Given the description of an element on the screen output the (x, y) to click on. 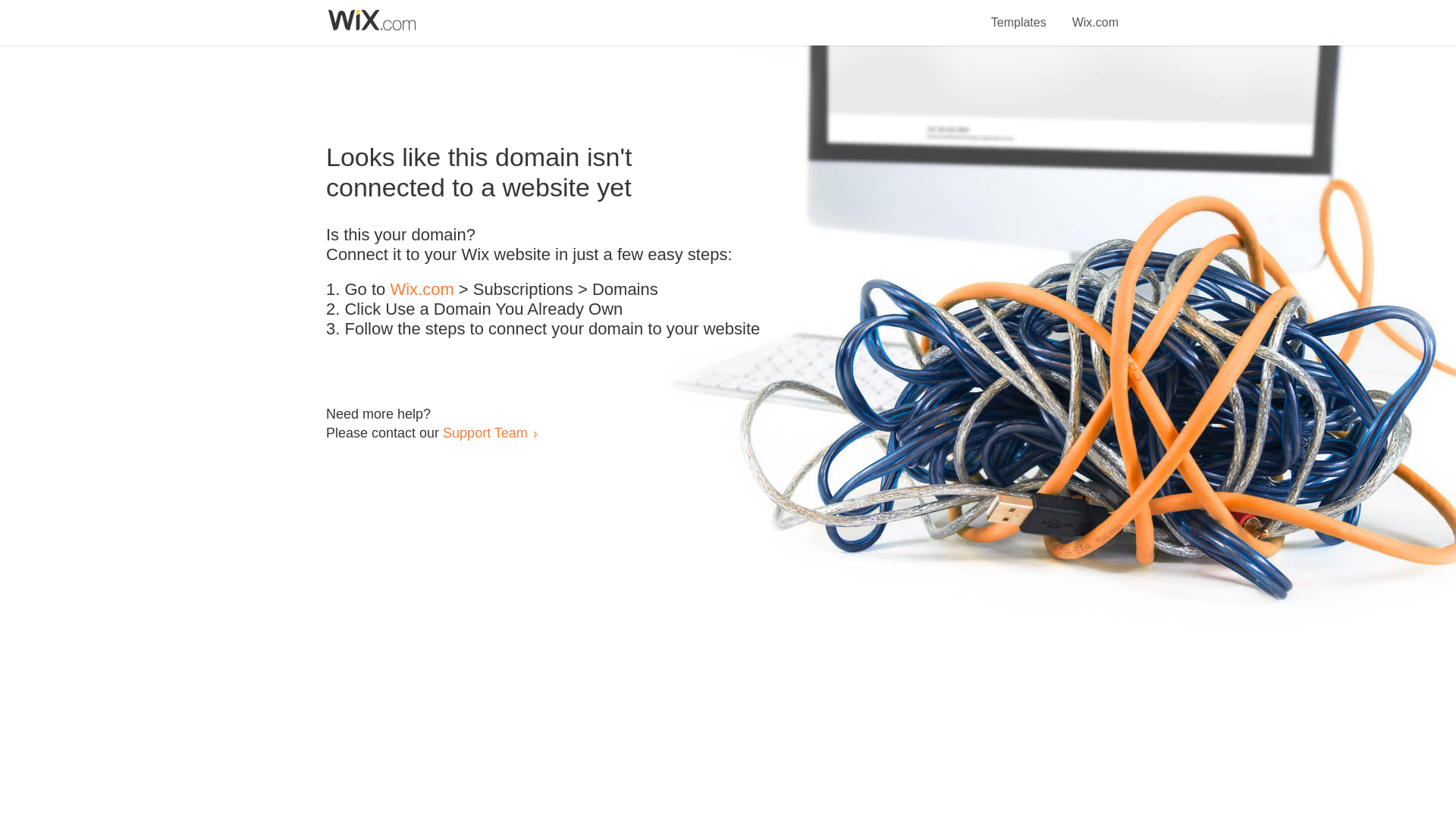
Wix.com (421, 289)
Templates (1018, 14)
Support Team (484, 432)
Wix.com (1095, 14)
